Given the description of an element on the screen output the (x, y) to click on. 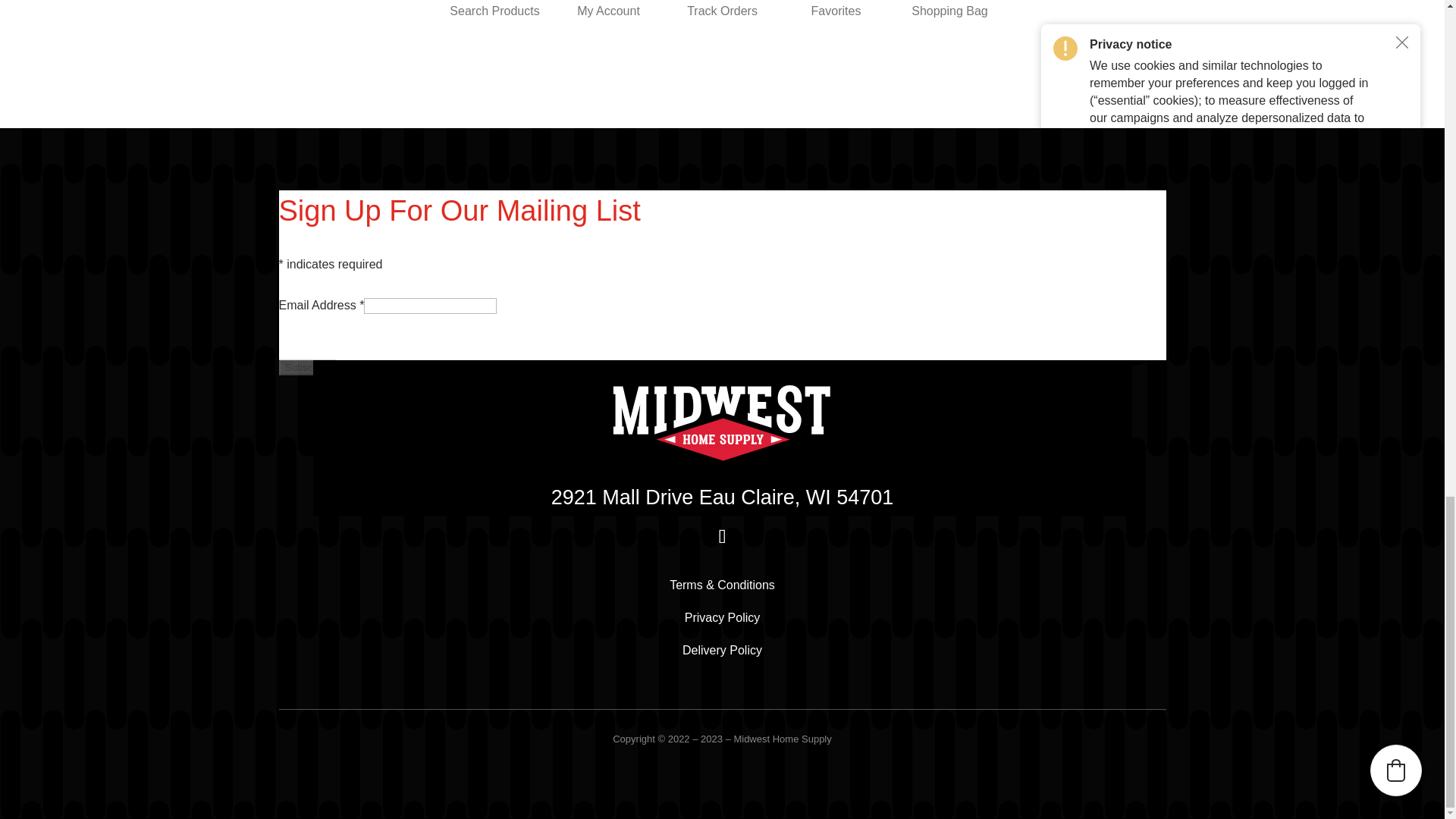
Subscribe (307, 367)
